Given the description of an element on the screen output the (x, y) to click on. 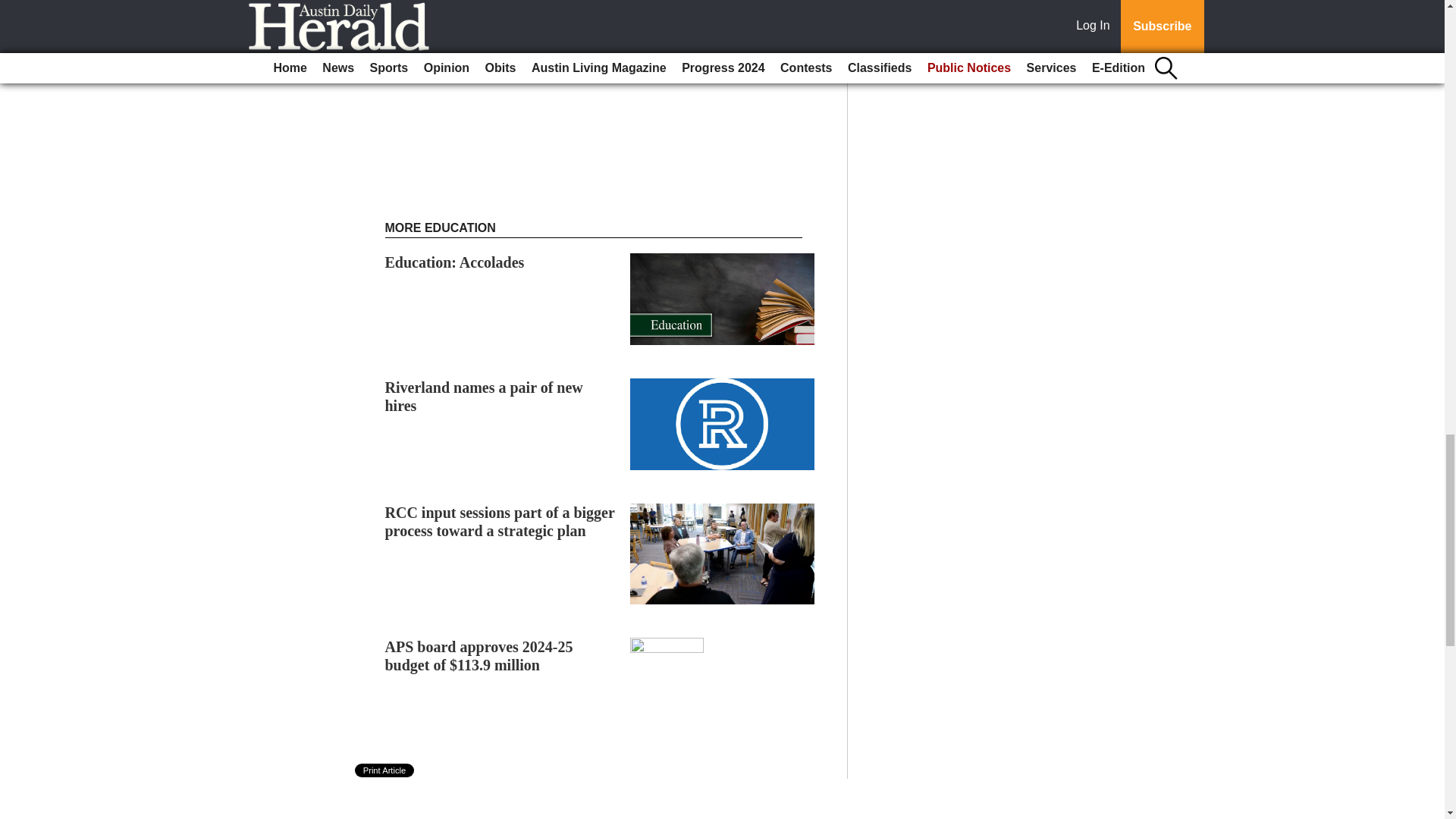
Riverland names a pair of new hires (484, 396)
Education: Accolades (454, 262)
